Given the description of an element on the screen output the (x, y) to click on. 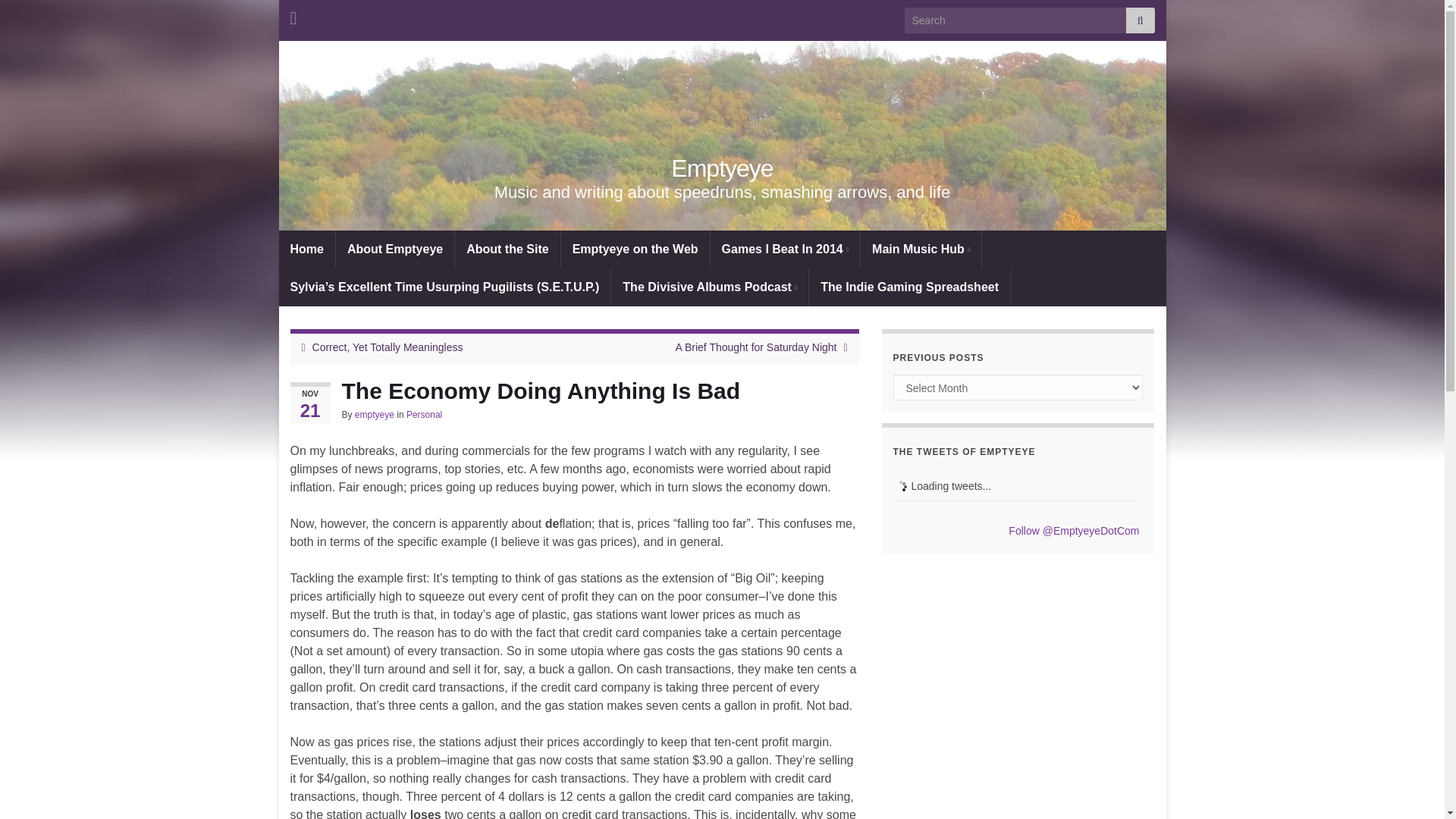
Games I Beat In 2014 (785, 249)
Emptyeye on the Web (635, 249)
Home (306, 249)
About Emptyeye (395, 249)
About the Site (506, 249)
Go back to the front page (722, 167)
Emptyeye (722, 167)
